Given the description of an element on the screen output the (x, y) to click on. 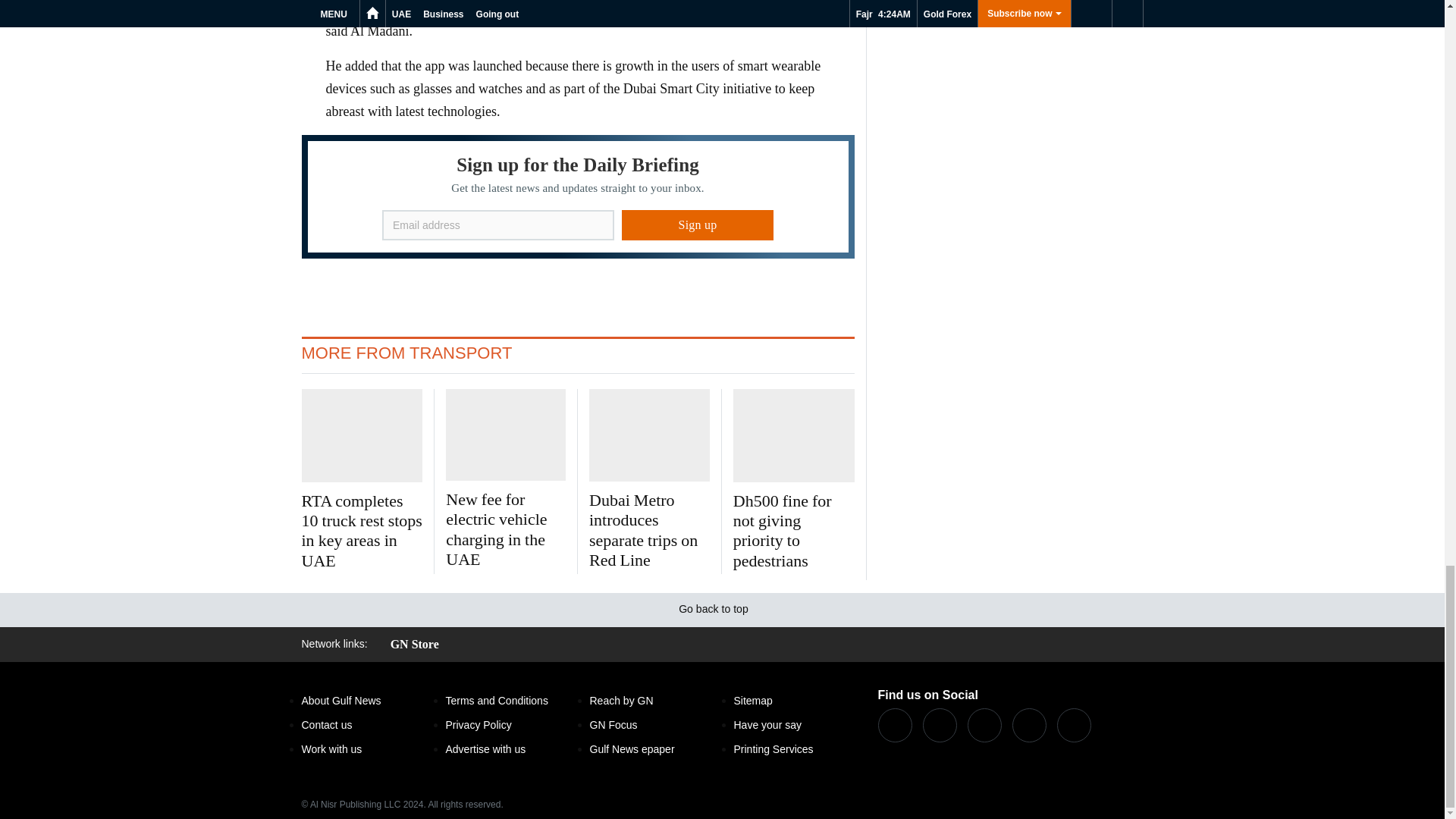
Sign up for the Daily Briefing (577, 196)
